Given the description of an element on the screen output the (x, y) to click on. 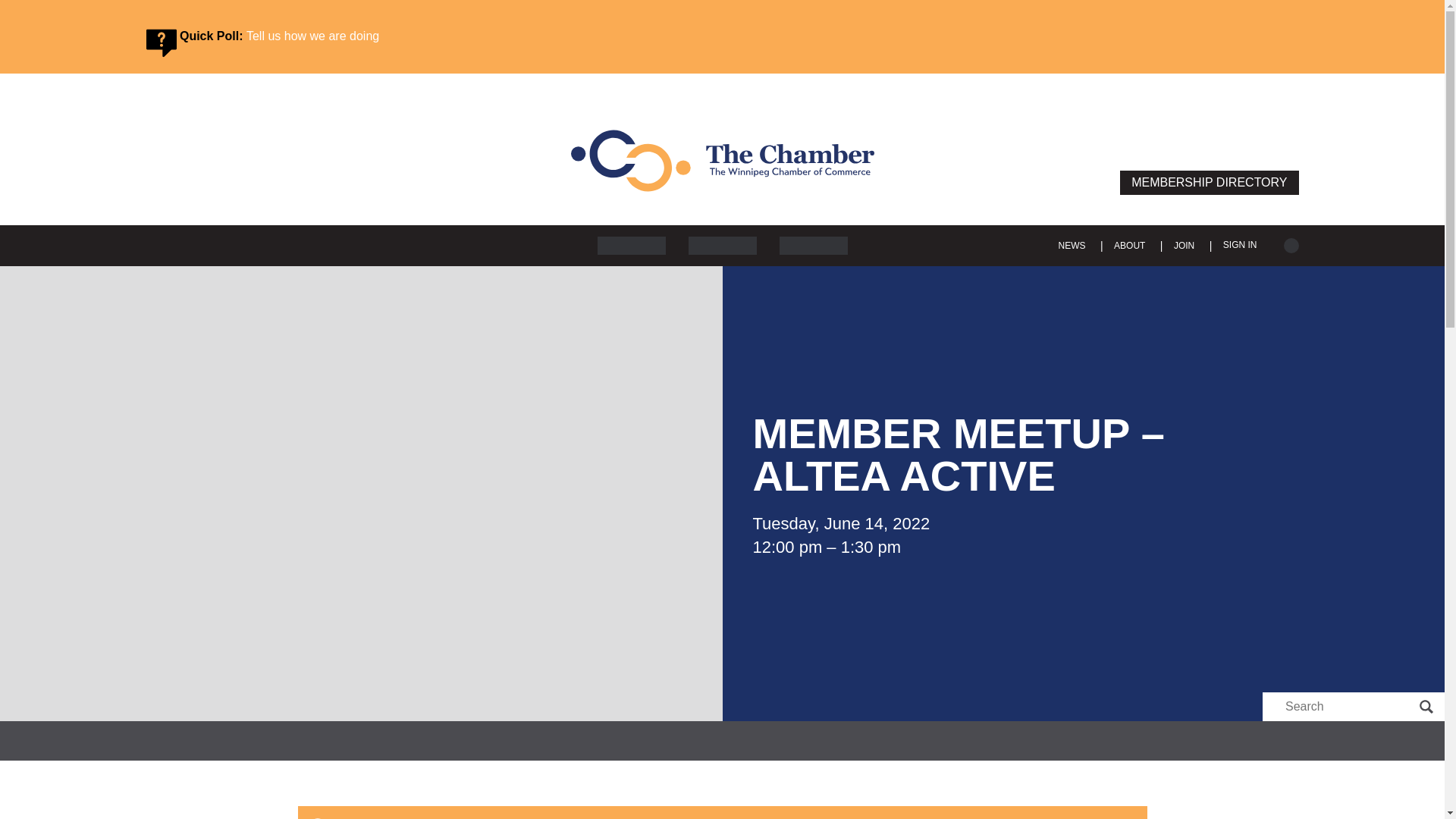
JOIN (1184, 245)
Tell us how we are doing (312, 35)
SIGN IN (1240, 244)
ABOUT (1128, 245)
NEWS (1071, 245)
MEMBERSHIP DIRECTORY (1208, 182)
